Given the description of an element on the screen output the (x, y) to click on. 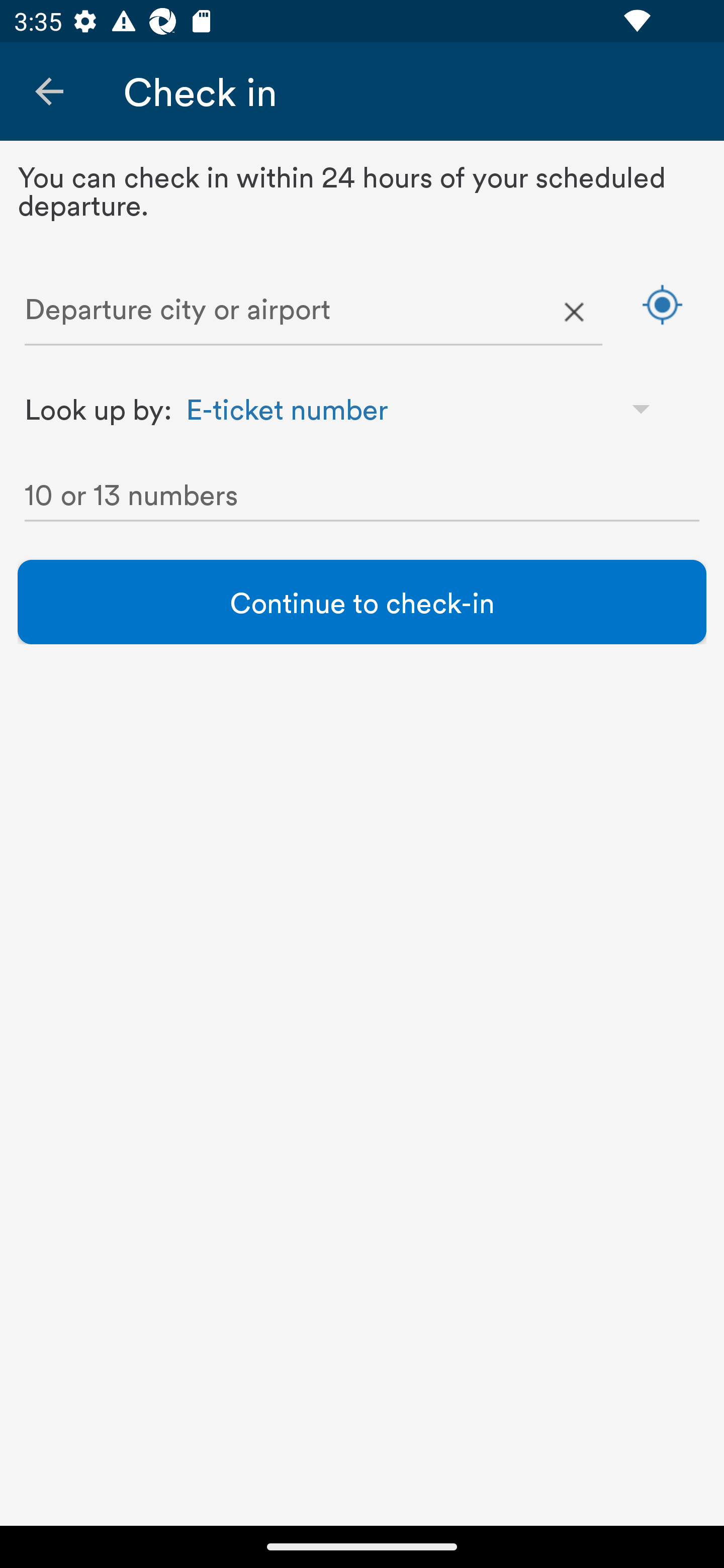
Navigate up (49, 91)
Use location (662, 304)
Departure city or airport (313, 312)
E-ticket number (427, 408)
10 or 13 numbers (361, 498)
Continue to check-in (361, 601)
